Given the description of an element on the screen output the (x, y) to click on. 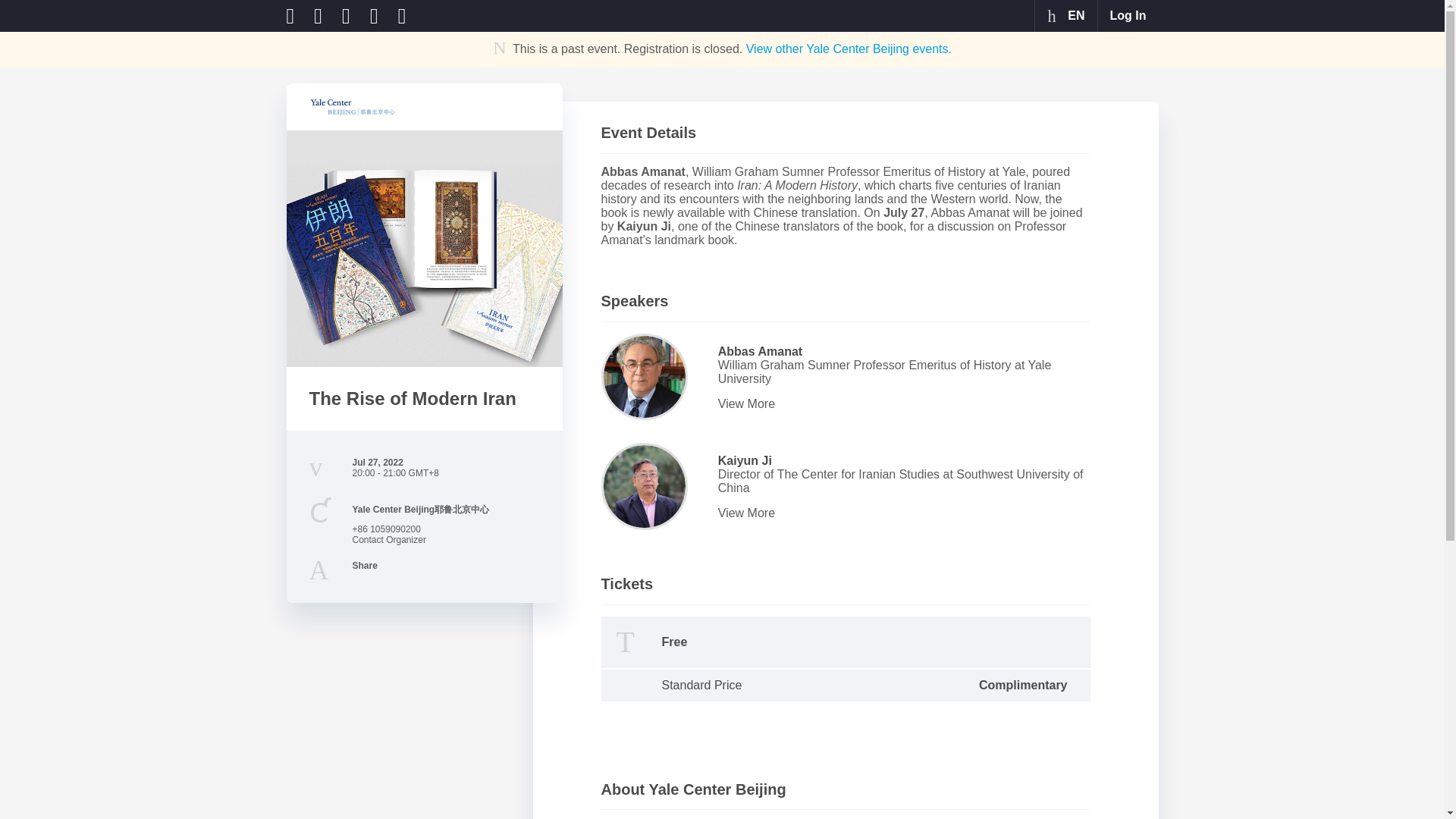
View other Yale Center Beijing events. (848, 48)
Log In (1127, 15)
View More (900, 513)
Sign in (1127, 15)
Contact Organizer (388, 539)
View More (900, 404)
